Given the description of an element on the screen output the (x, y) to click on. 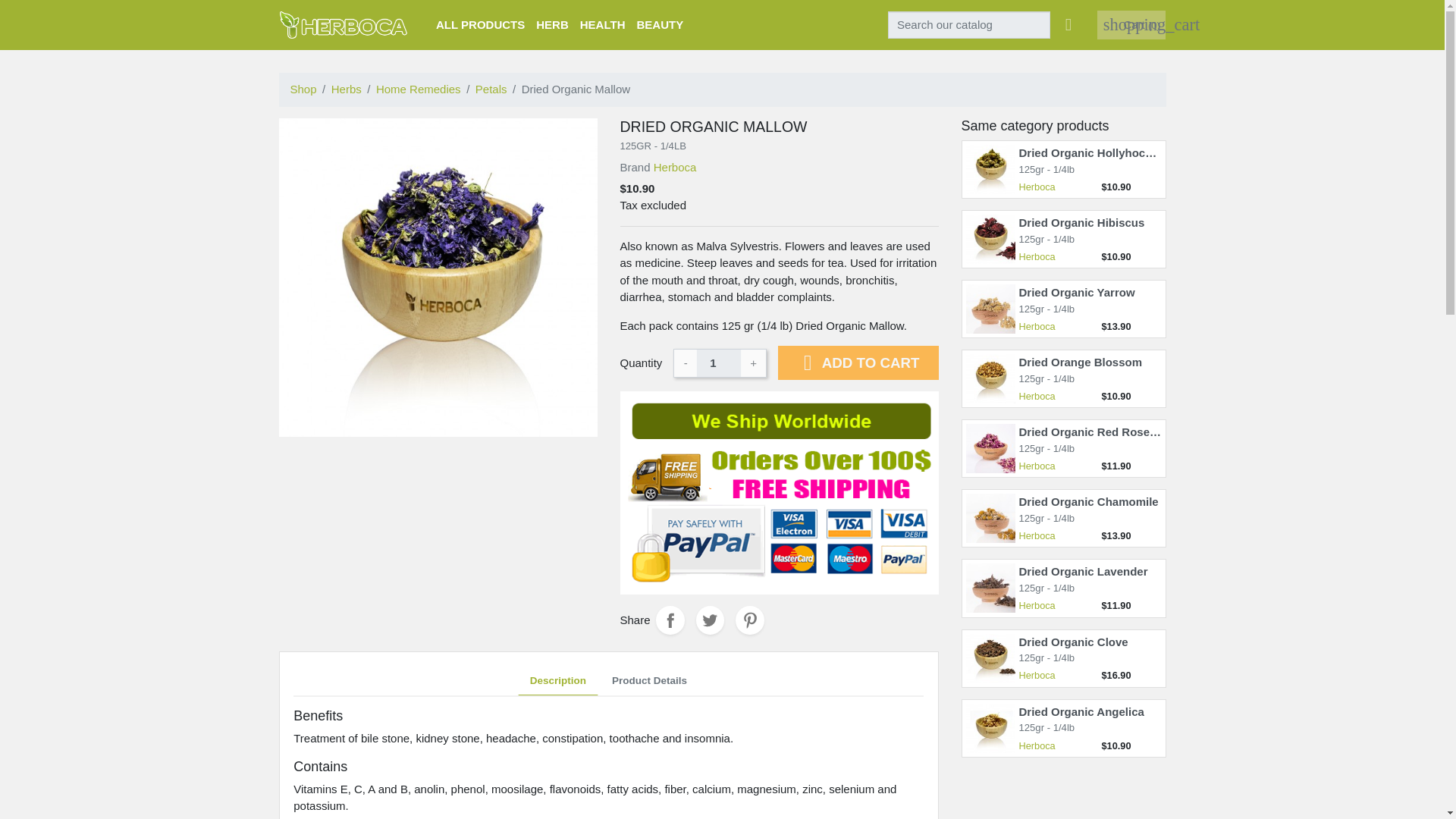
Pinterest (749, 620)
Home Remedies (418, 88)
Petals (491, 88)
Dried Organic Hollyhock Flower (1105, 152)
Share (670, 620)
Dried Orange Blossom (1080, 361)
Dried Organic Hibiscus (1081, 222)
Dried Organic Yarrow (1077, 291)
Description (557, 681)
Dried Organic Chamomile (1088, 501)
